Given the description of an element on the screen output the (x, y) to click on. 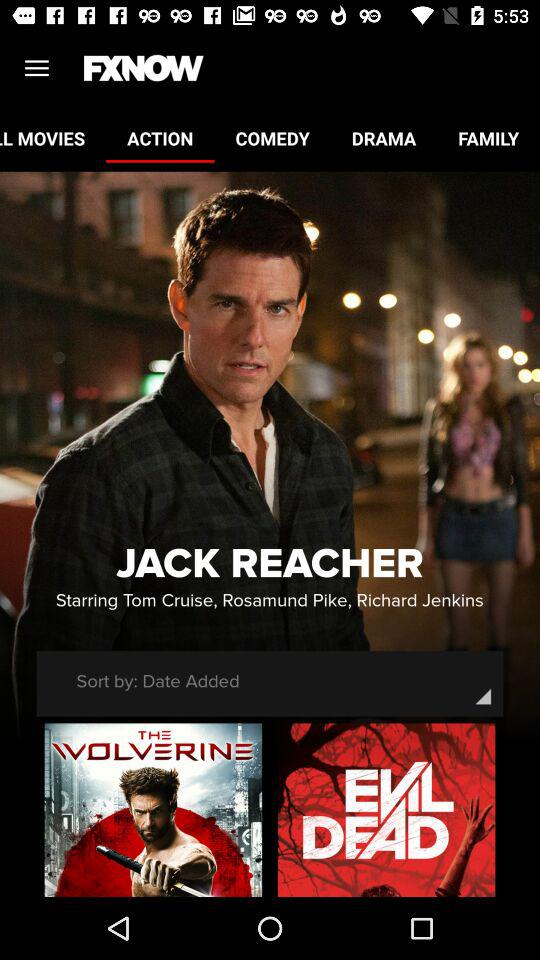
press jack reacher item (269, 563)
